Given the description of an element on the screen output the (x, y) to click on. 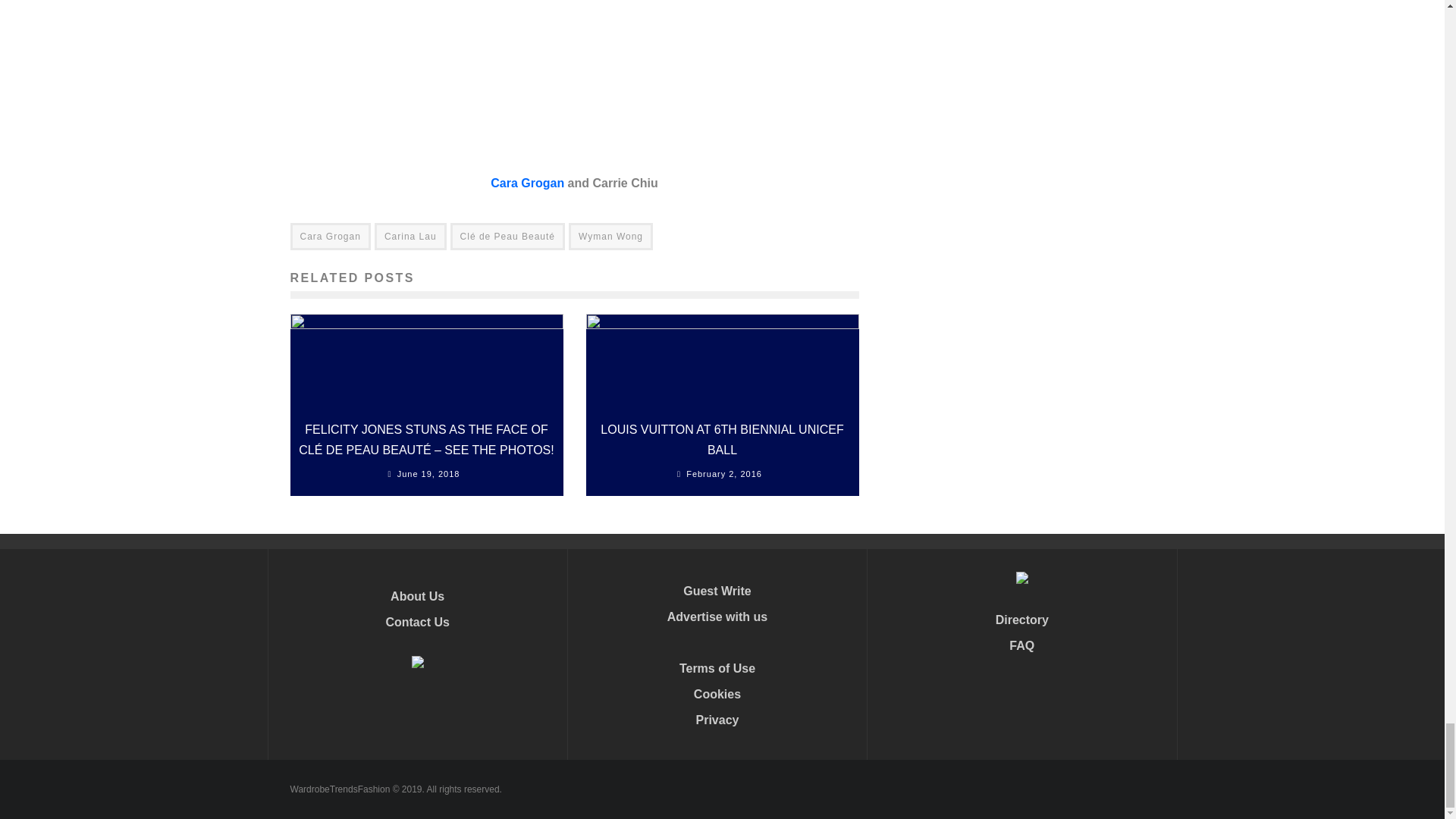
Cara Grogan (527, 182)
